Given the description of an element on the screen output the (x, y) to click on. 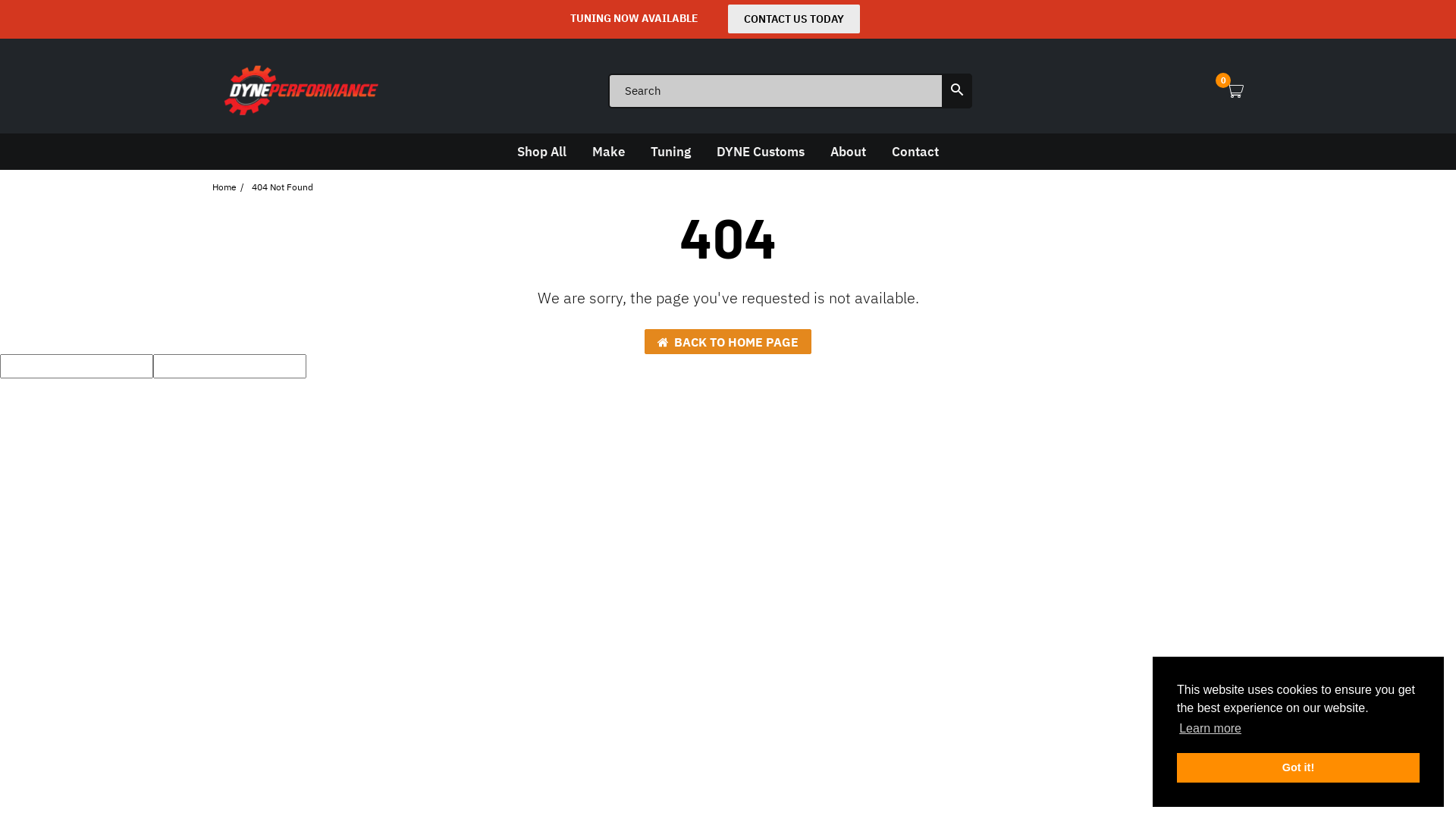
Home Element type: text (224, 186)
BACK TO HOME PAGE Element type: text (727, 341)
Got it! Element type: text (1297, 767)
Learn more Element type: text (1209, 728)
CONTACT US TODAY Element type: text (793, 18)
Contact Element type: text (914, 151)
About Element type: text (848, 151)
Make Element type: text (608, 151)
Tuning Element type: text (670, 151)
DYNE Performance Element type: hover (299, 88)
0 Element type: text (1234, 91)
Shop All Element type: text (541, 151)
DYNE Customs Element type: text (760, 151)
